Given the description of an element on the screen output the (x, y) to click on. 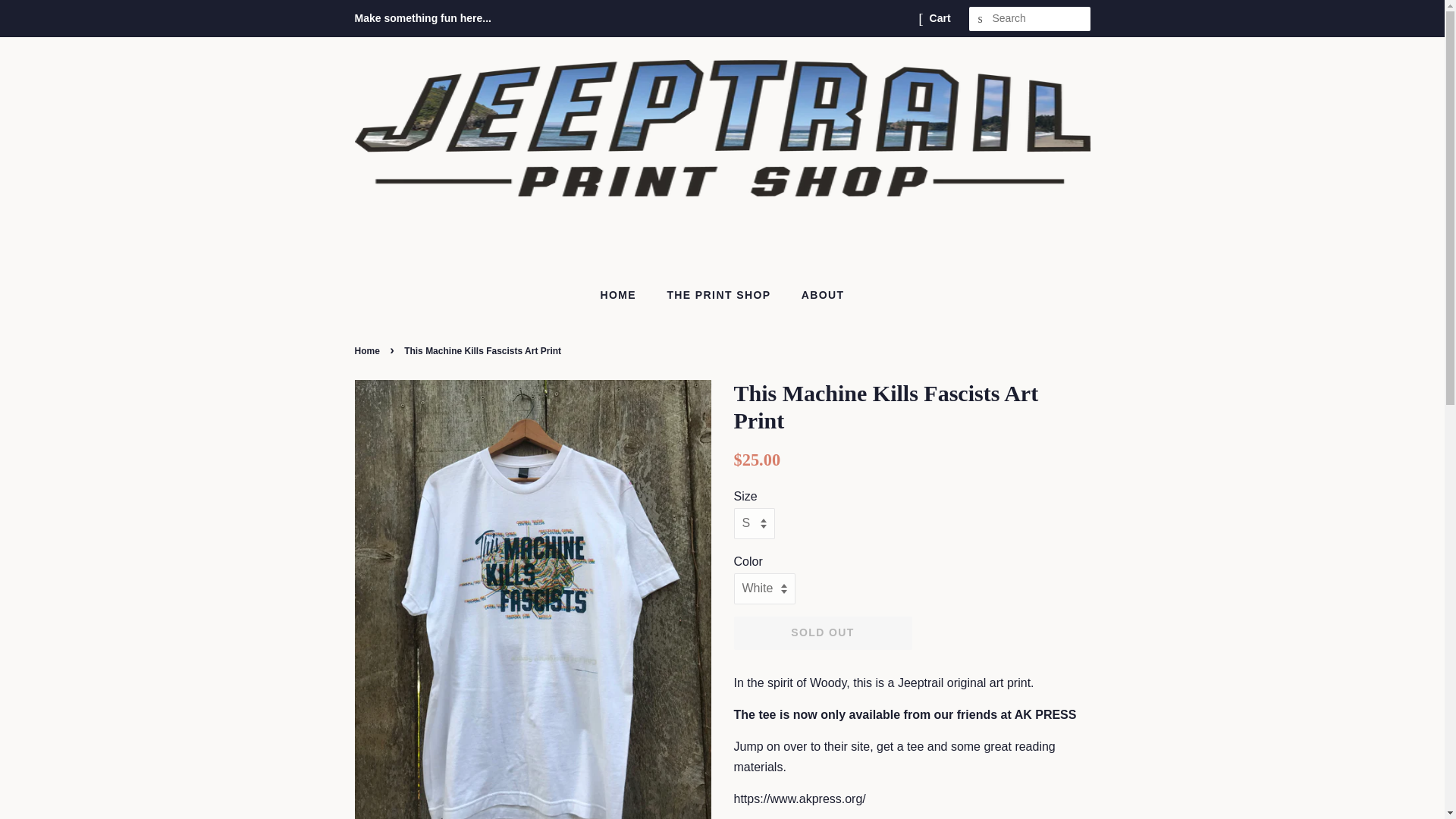
Back to the frontpage (369, 350)
SEARCH (980, 18)
Home (369, 350)
Cart (940, 18)
SOLD OUT (822, 633)
ABOUT (817, 295)
HOME (624, 295)
THE PRINT SHOP (720, 295)
